Given the description of an element on the screen output the (x, y) to click on. 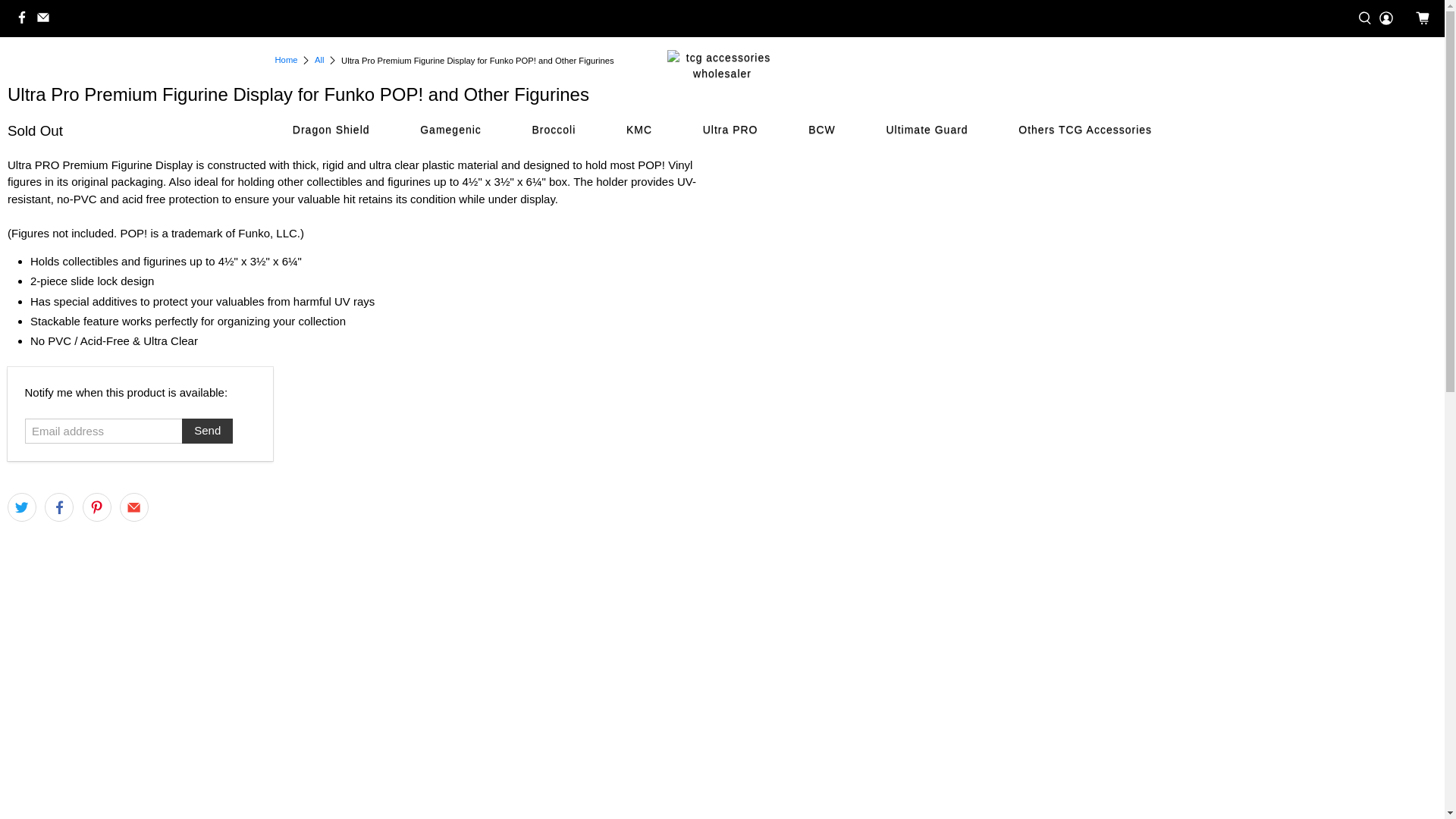
Ultimate Guard (926, 129)
Email this to a friend (133, 507)
Antstop on Facebook (25, 18)
Ultra PRO (729, 129)
Broccoli (552, 129)
Dragon Shield (330, 129)
Email Antstop (47, 18)
Antstop (286, 60)
Share this on Facebook (59, 507)
BCW (821, 129)
